Given the description of an element on the screen output the (x, y) to click on. 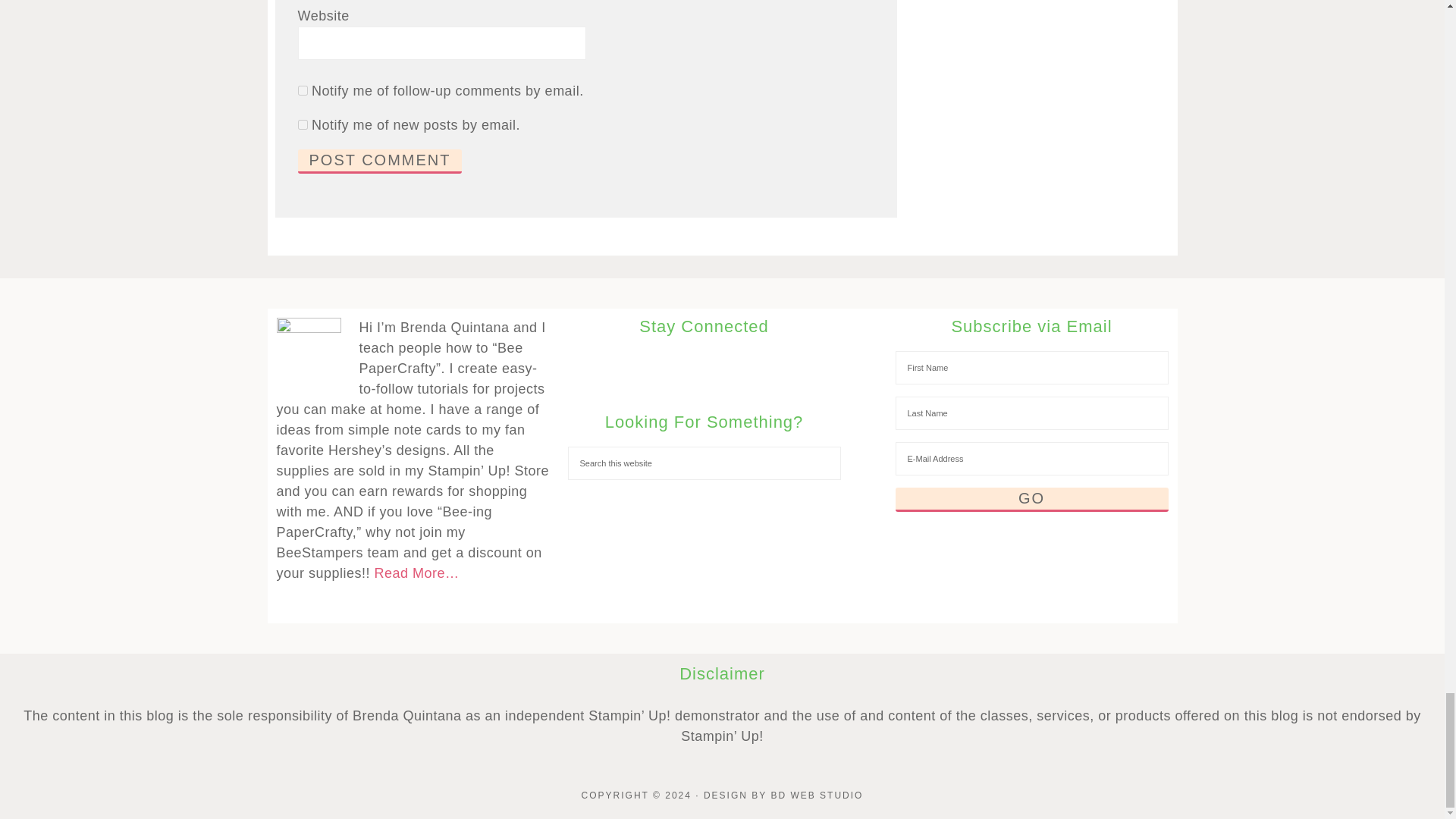
subscribe (302, 90)
Go (1031, 499)
subscribe (302, 124)
Post Comment (379, 161)
